Given the description of an element on the screen output the (x, y) to click on. 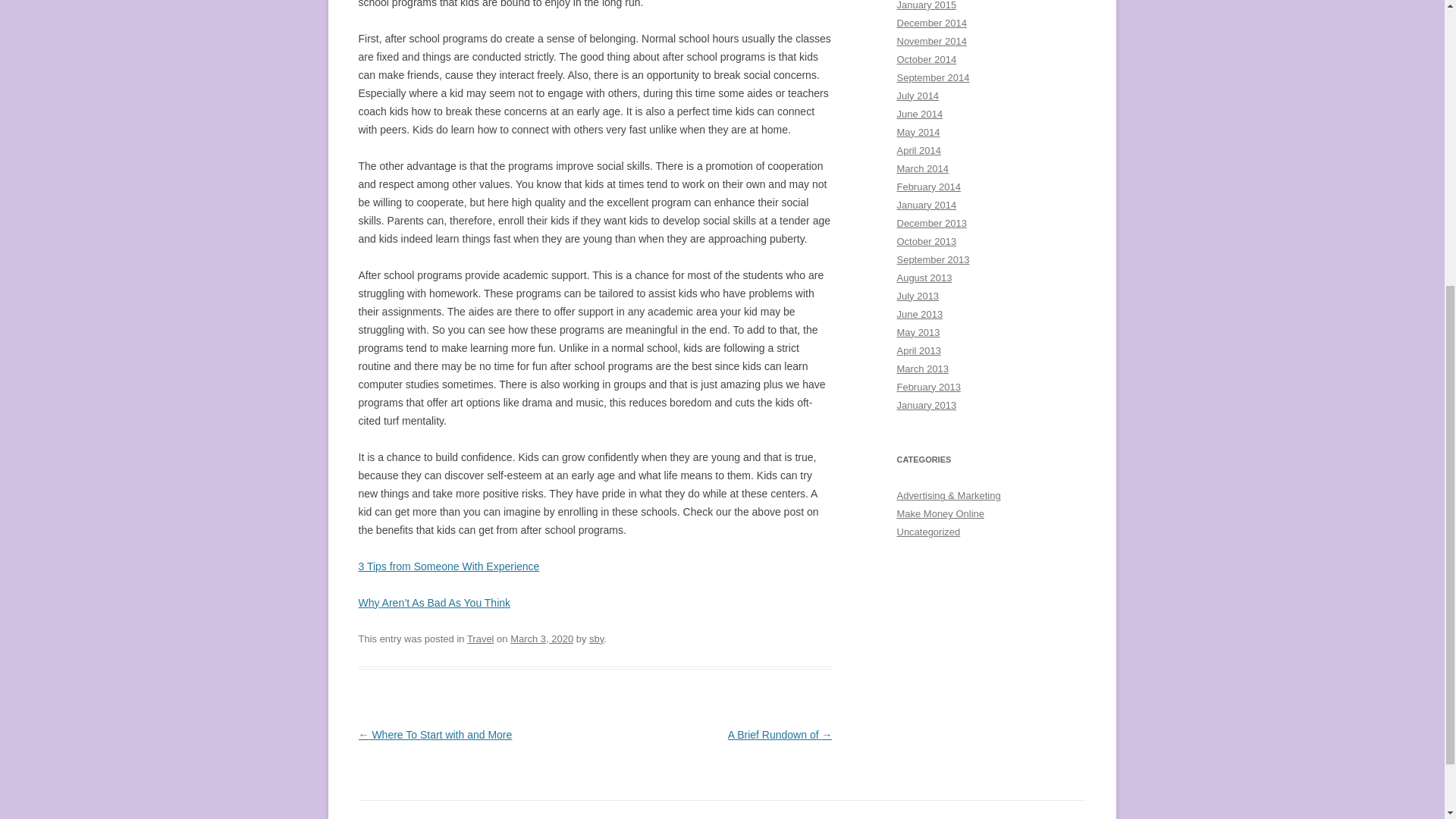
July 2013 (917, 296)
January 2014 (926, 204)
June 2014 (919, 113)
October 2013 (926, 241)
May 2013 (917, 332)
October 2014 (926, 59)
May 2014 (917, 132)
February 2014 (927, 186)
September 2014 (932, 77)
3 Tips from Someone With Experience (448, 566)
March 2014 (922, 168)
March 3, 2020 (542, 638)
November 2014 (931, 41)
View all posts by sby (596, 638)
December 2013 (931, 223)
